Given the description of an element on the screen output the (x, y) to click on. 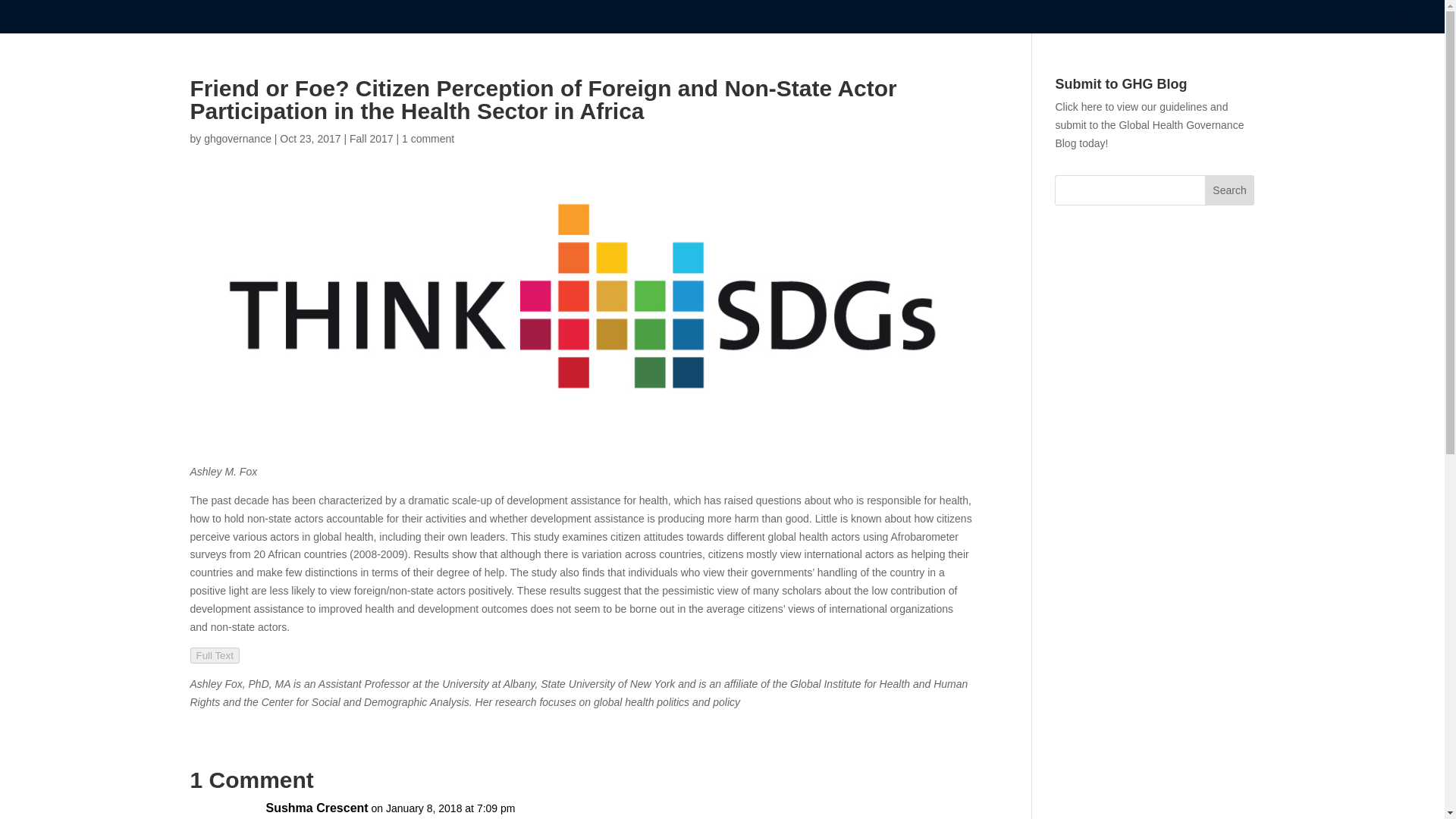
Posts by ghgovernance (236, 138)
Full Text (213, 654)
Fall 2017 (371, 138)
Search (1230, 190)
Click here (1078, 106)
1 comment (427, 138)
Sushma Crescent (316, 808)
Search (1230, 190)
ghgovernance (236, 138)
Full Text (213, 655)
